Given the description of an element on the screen output the (x, y) to click on. 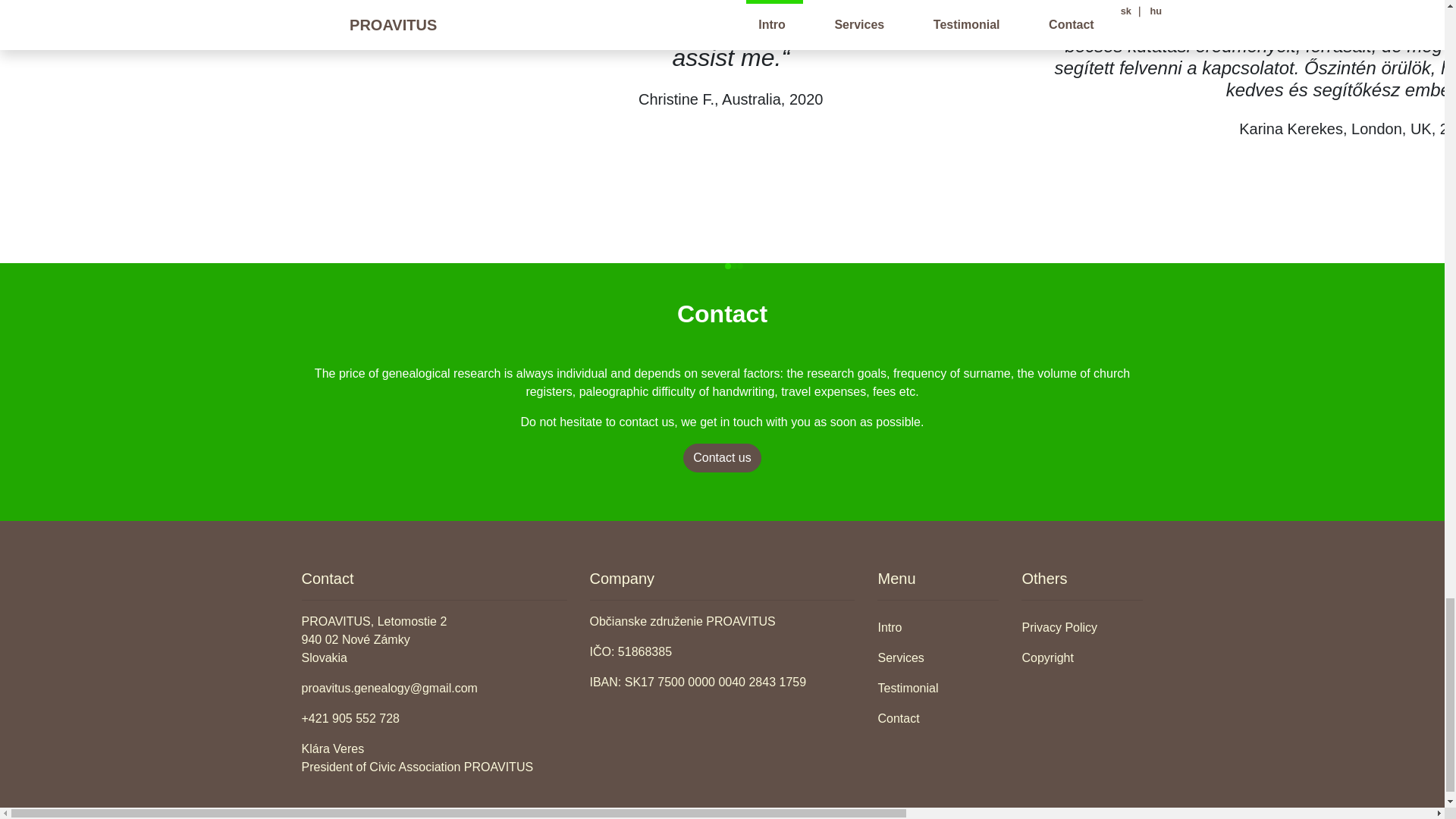
Privacy Policy (1082, 627)
Testimonial (937, 688)
Copyright (1082, 657)
Contact (937, 718)
Services (937, 657)
Intro (937, 627)
Contact us (721, 457)
